Given the description of an element on the screen output the (x, y) to click on. 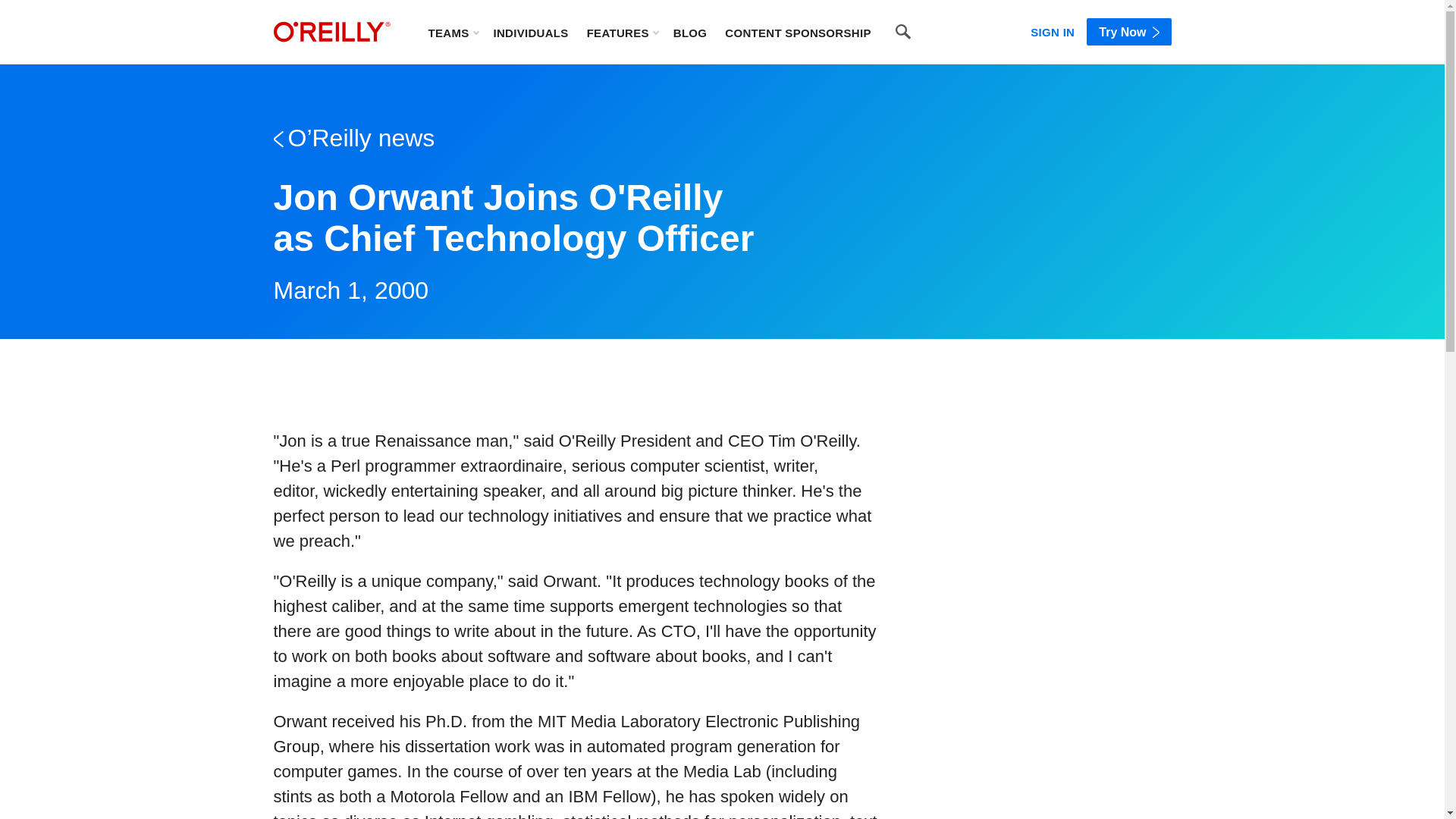
FEATURES (622, 31)
BLOG (689, 31)
Search (903, 31)
TEAMS (452, 31)
home page (331, 31)
INDIVIDUALS (530, 31)
CONTENT SPONSORSHIP (797, 31)
SIGN IN (1052, 29)
Try Now (1128, 31)
